Given the description of an element on the screen output the (x, y) to click on. 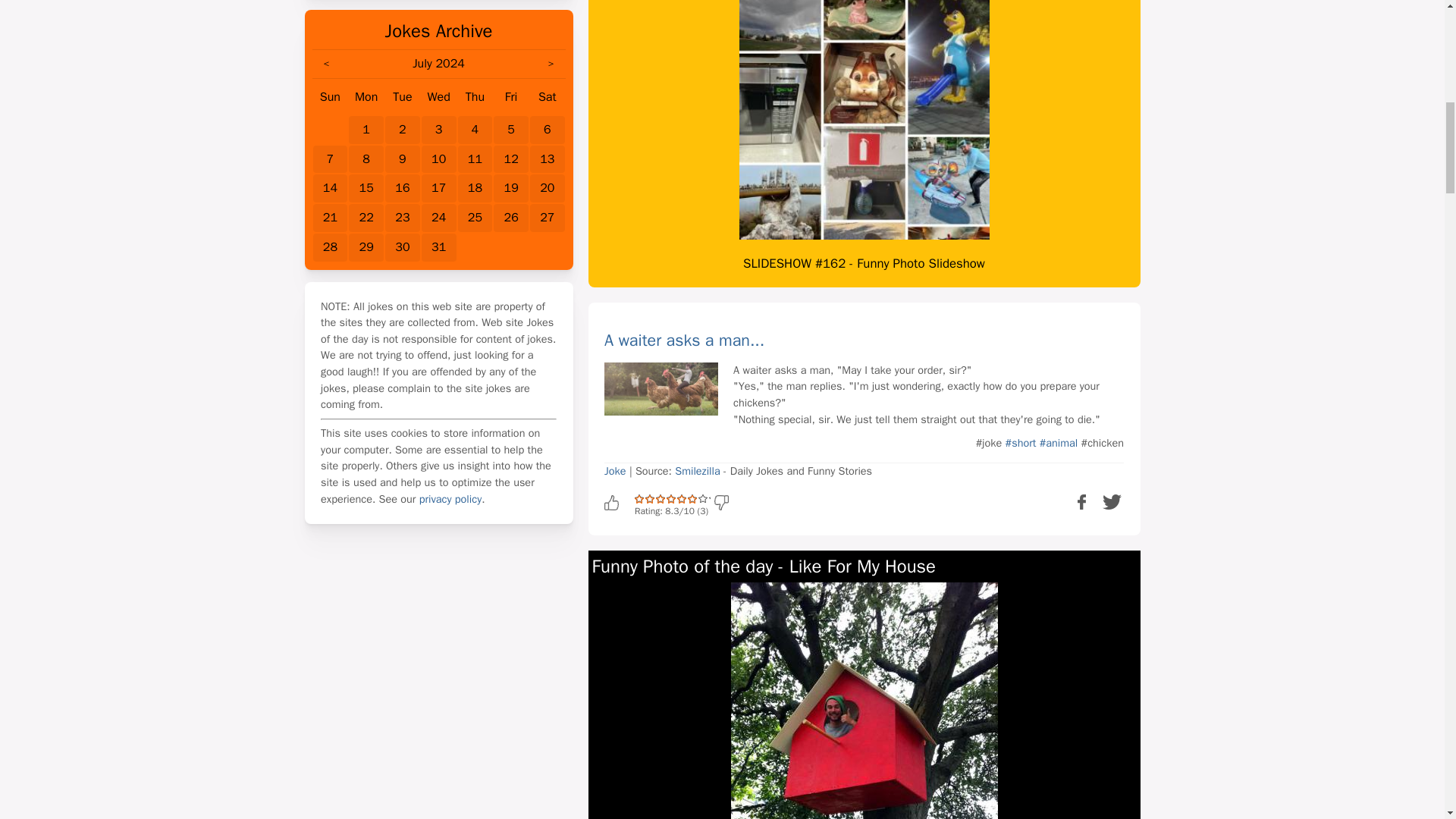
Joke (615, 470)
Smilezilla (697, 470)
